Given the description of an element on the screen output the (x, y) to click on. 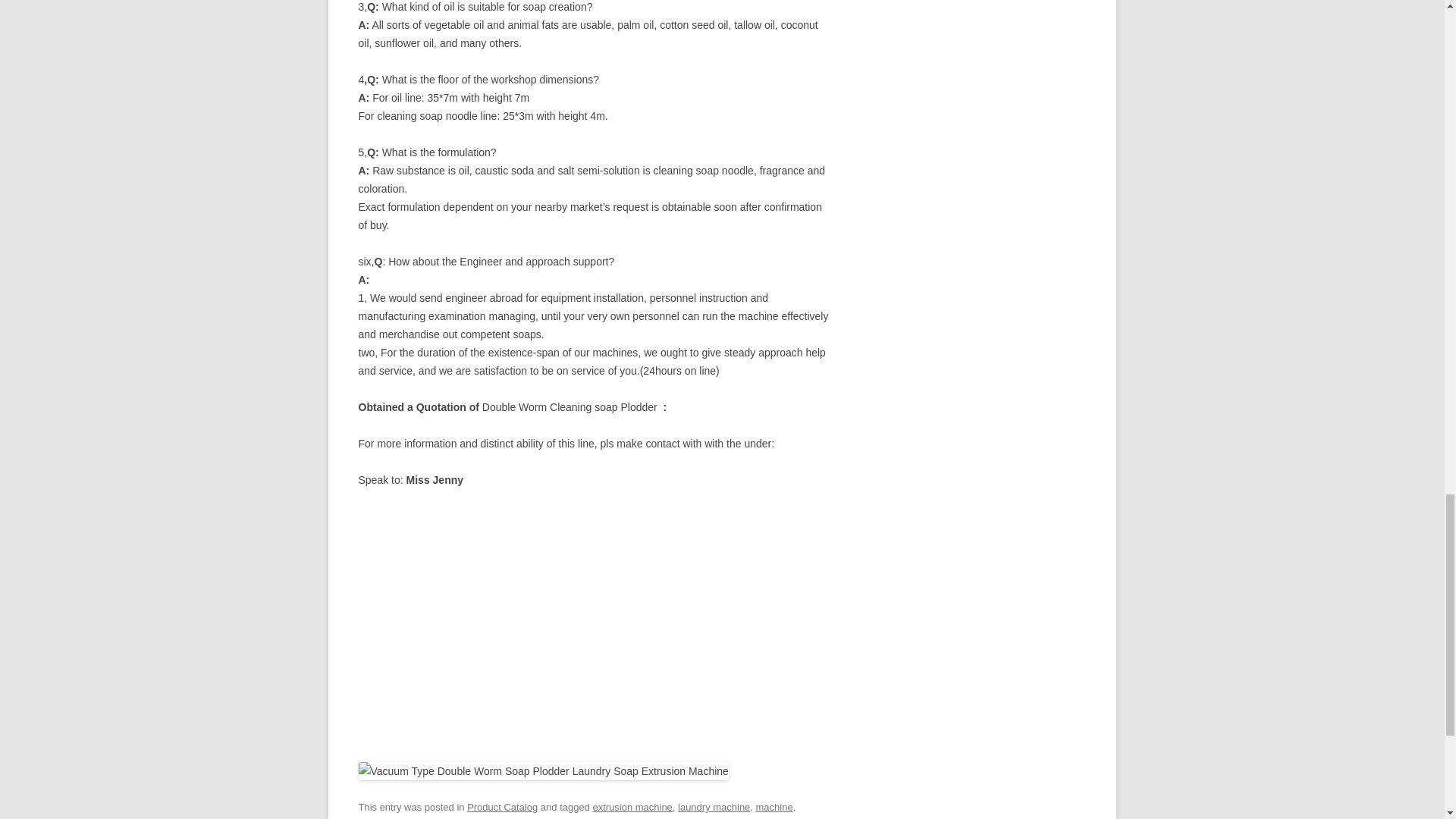
Product Catalog (502, 807)
machine (774, 807)
extrusion machine (631, 807)
laundry machine (713, 807)
